Given the description of an element on the screen output the (x, y) to click on. 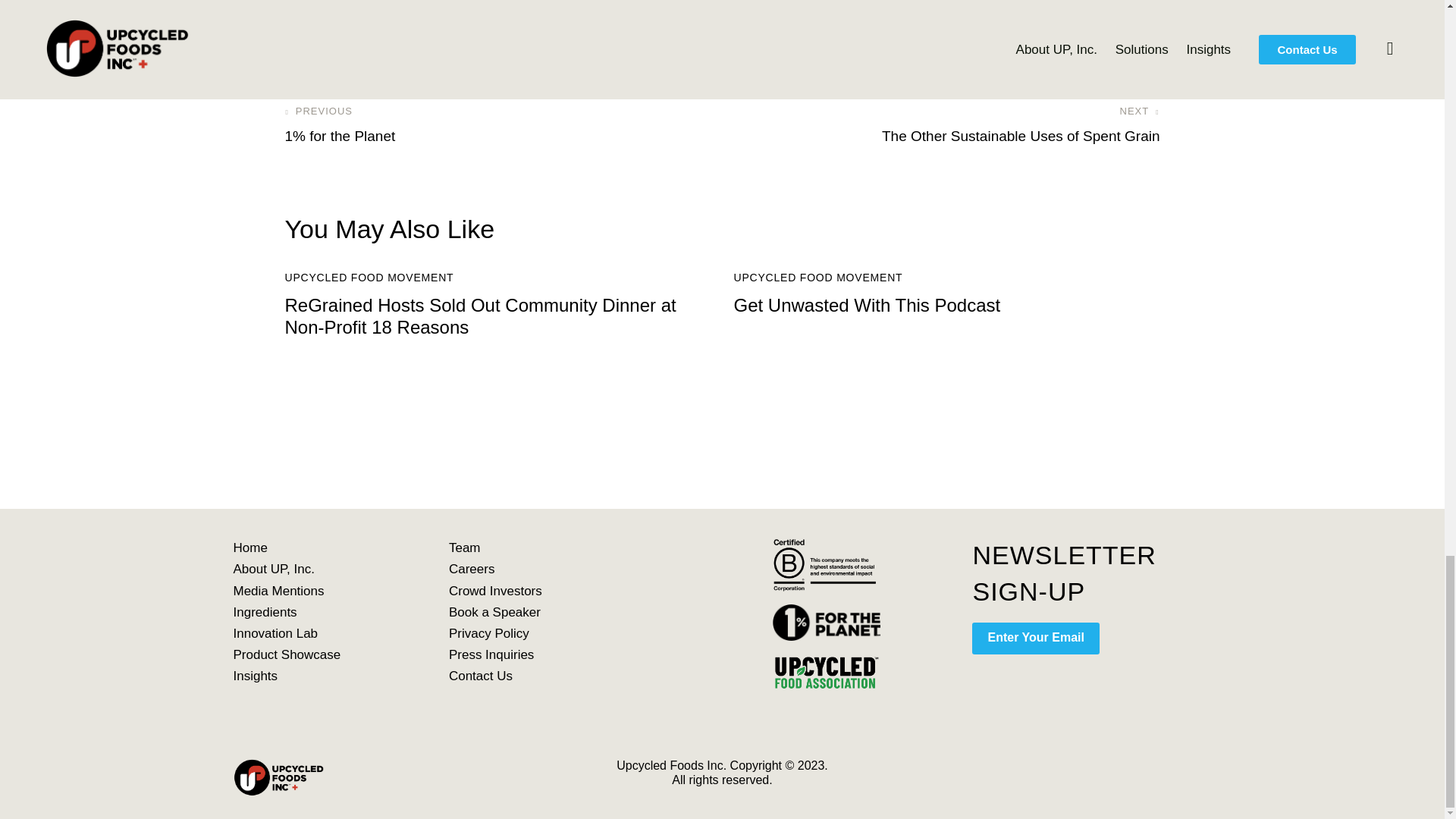
Copy URL to clipboard (420, 21)
2018-Corp-wTag-Black-L (826, 563)
